Given the description of an element on the screen output the (x, y) to click on. 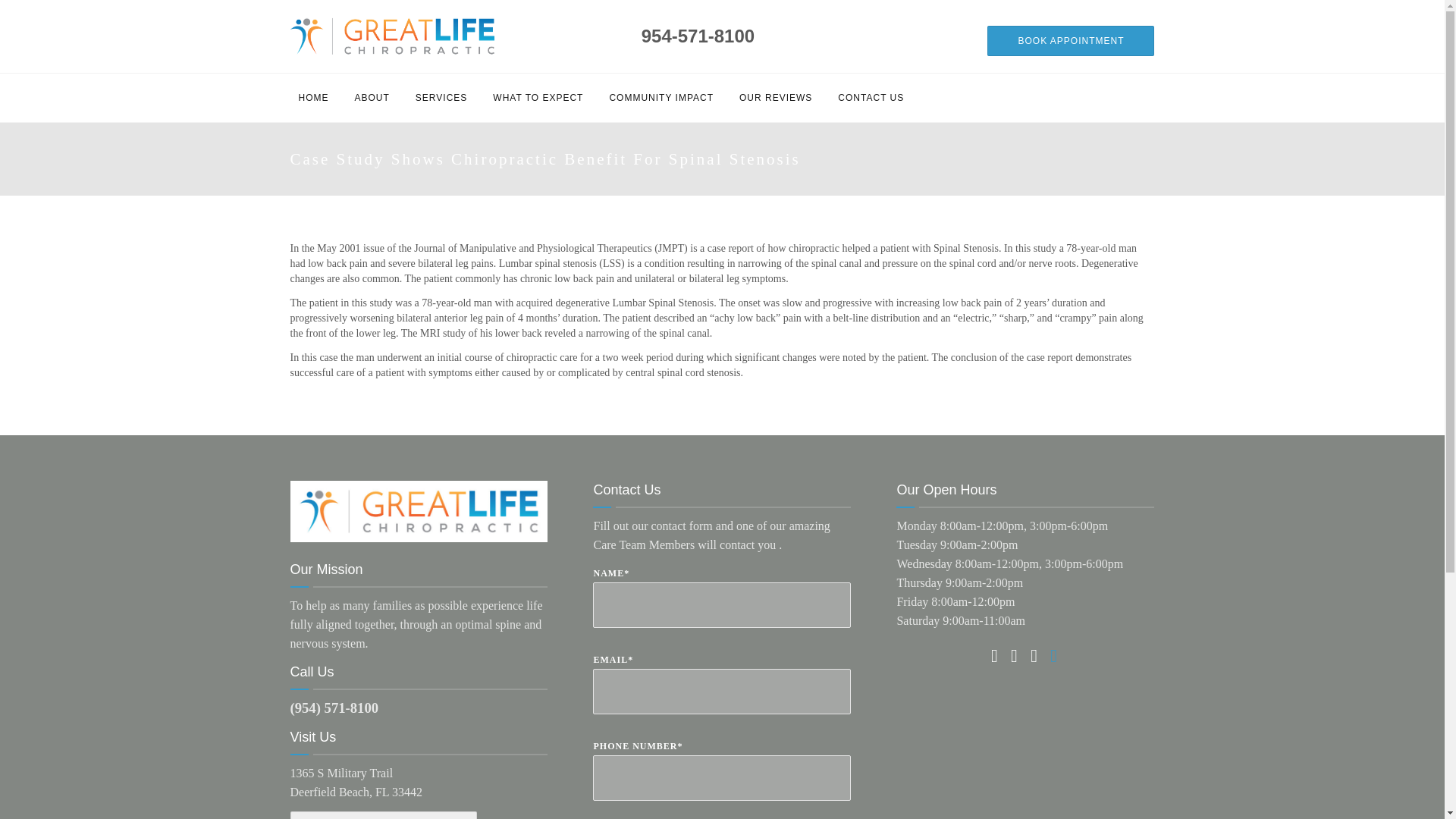
BOOK APPOINTMENT (1070, 40)
HOME (312, 97)
SERVICES (441, 97)
ABOUT (371, 97)
WHAT TO EXPECT (537, 97)
